Given the description of an element on the screen output the (x, y) to click on. 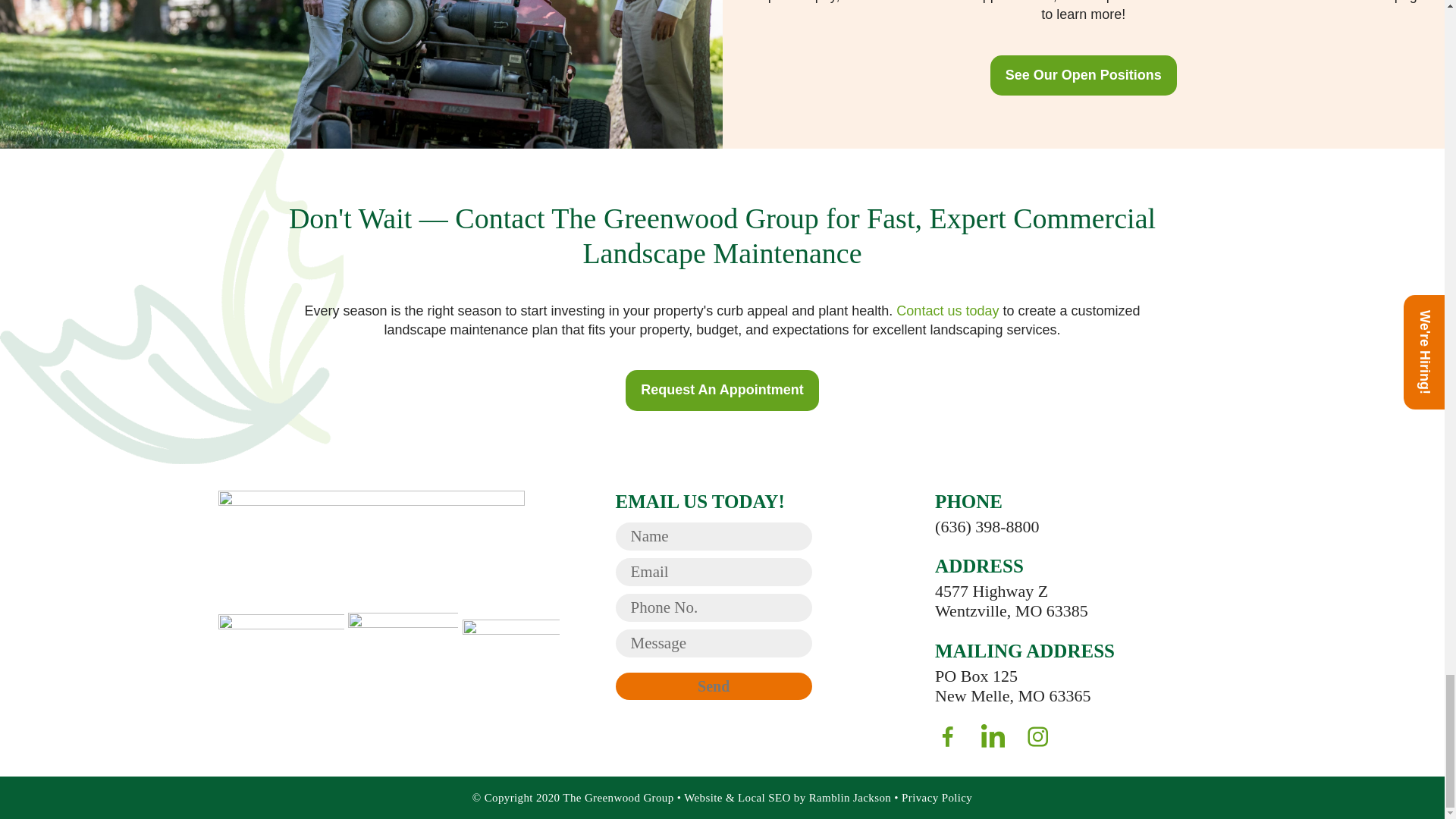
Send (713, 686)
